Given the description of an element on the screen output the (x, y) to click on. 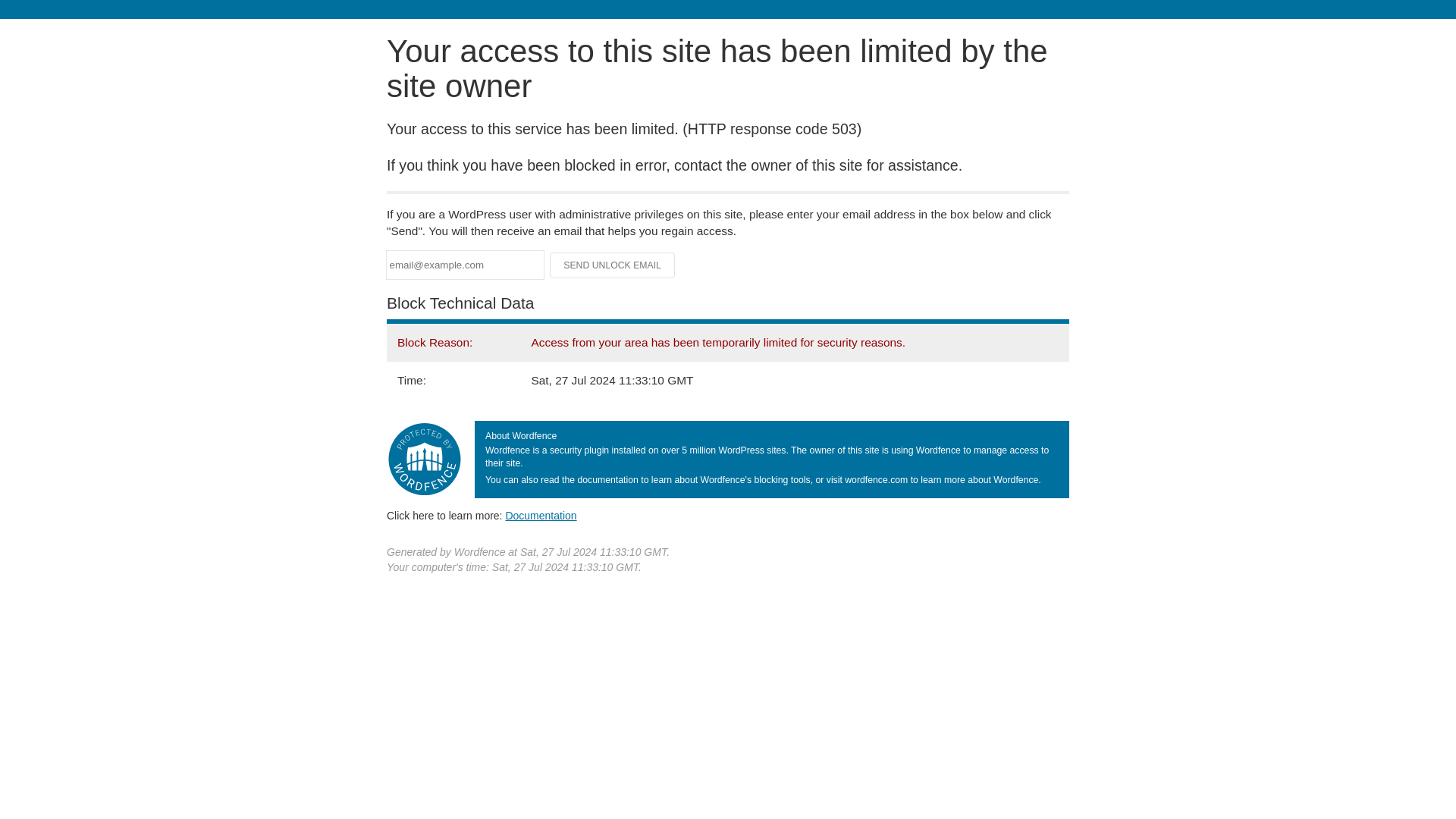
Documentation (540, 515)
Send Unlock Email (612, 265)
Send Unlock Email (612, 265)
